Given the description of an element on the screen output the (x, y) to click on. 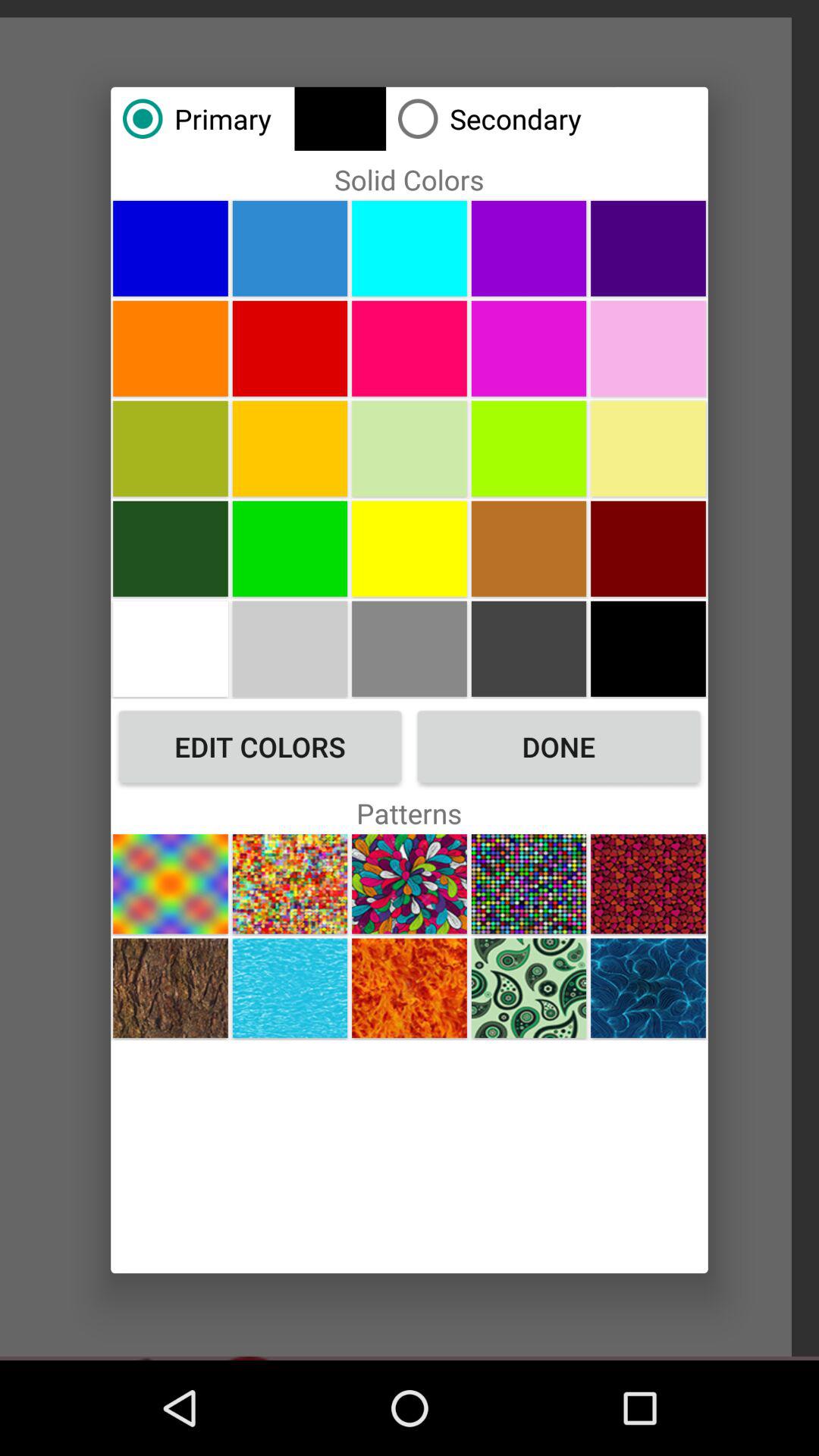
color selector blue (170, 248)
